Given the description of an element on the screen output the (x, y) to click on. 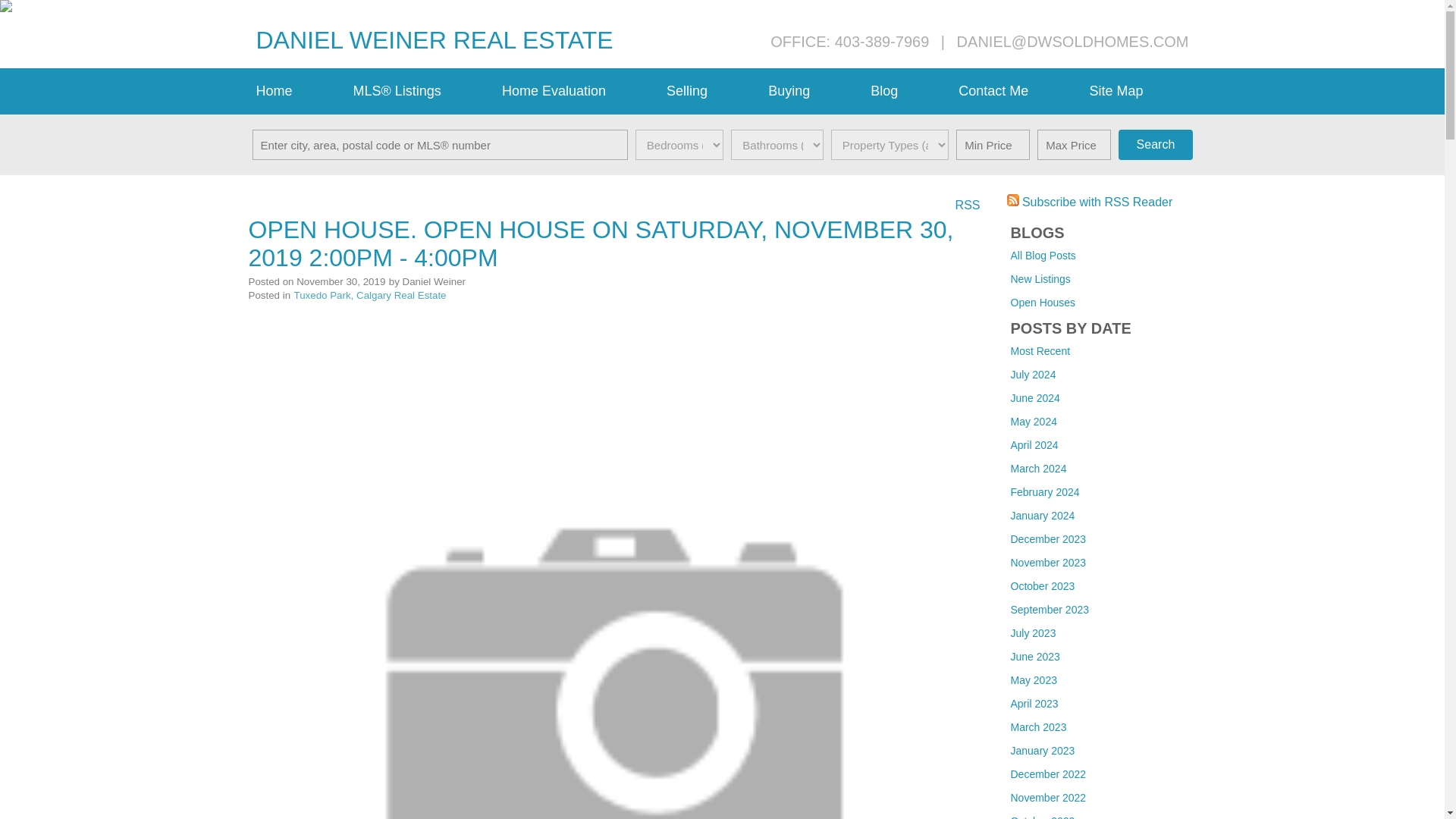
Home Evaluation (577, 90)
July 2024 (1032, 374)
April 2024 (1034, 444)
Selling (709, 90)
Most Recent (1040, 350)
Home (297, 90)
All Blog Posts (1042, 255)
Search (1155, 144)
Blog (906, 90)
Open Houses (1042, 302)
Contact Me (1015, 90)
May 2024 (1033, 421)
June 2024 (1034, 398)
New Listings (1040, 278)
Subscribe with RSS Reader (1090, 201)
